Given the description of an element on the screen output the (x, y) to click on. 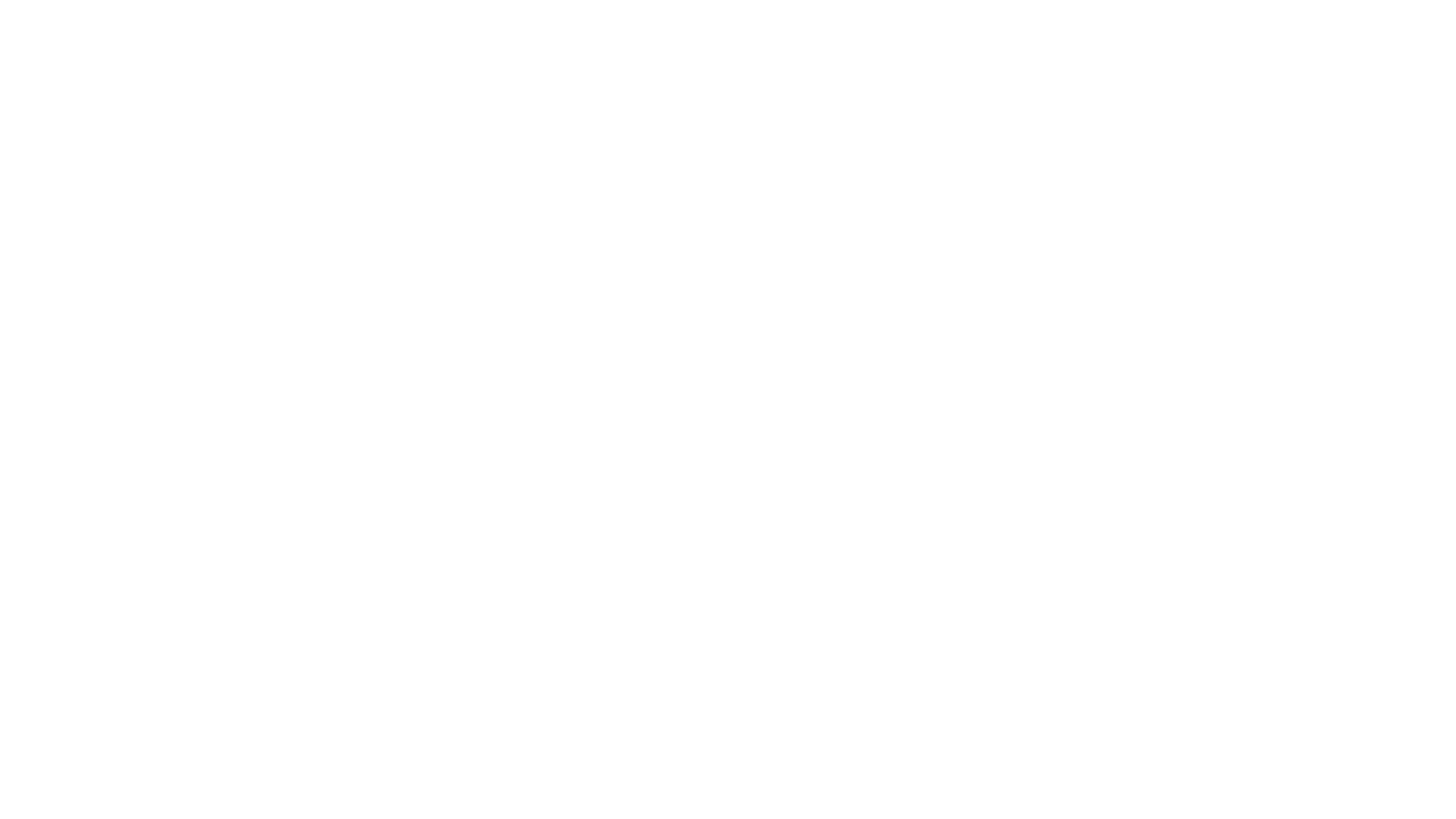
TOP Element type: text (1361, 717)
